Given the description of an element on the screen output the (x, y) to click on. 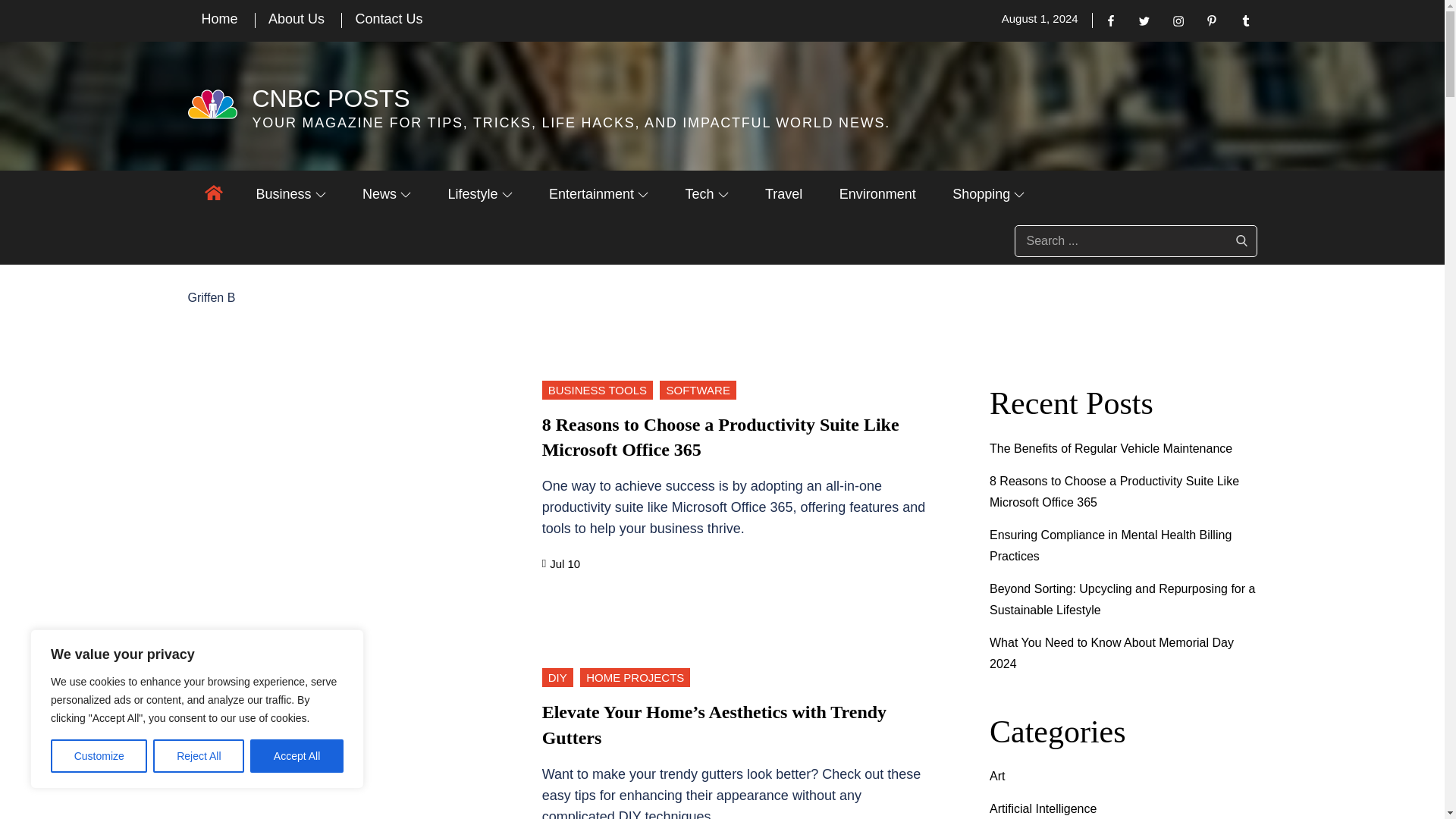
Tumblr (1245, 20)
Home (219, 18)
Facebook (1110, 20)
Customize (98, 756)
Pinterest (1211, 20)
CNBC POSTS (330, 98)
Search for: (1135, 241)
Accept All (296, 756)
About Us (295, 18)
Instagram (1178, 20)
Reject All (198, 756)
Business (291, 193)
Contact Us (387, 18)
Twitter (1144, 20)
